Given the description of an element on the screen output the (x, y) to click on. 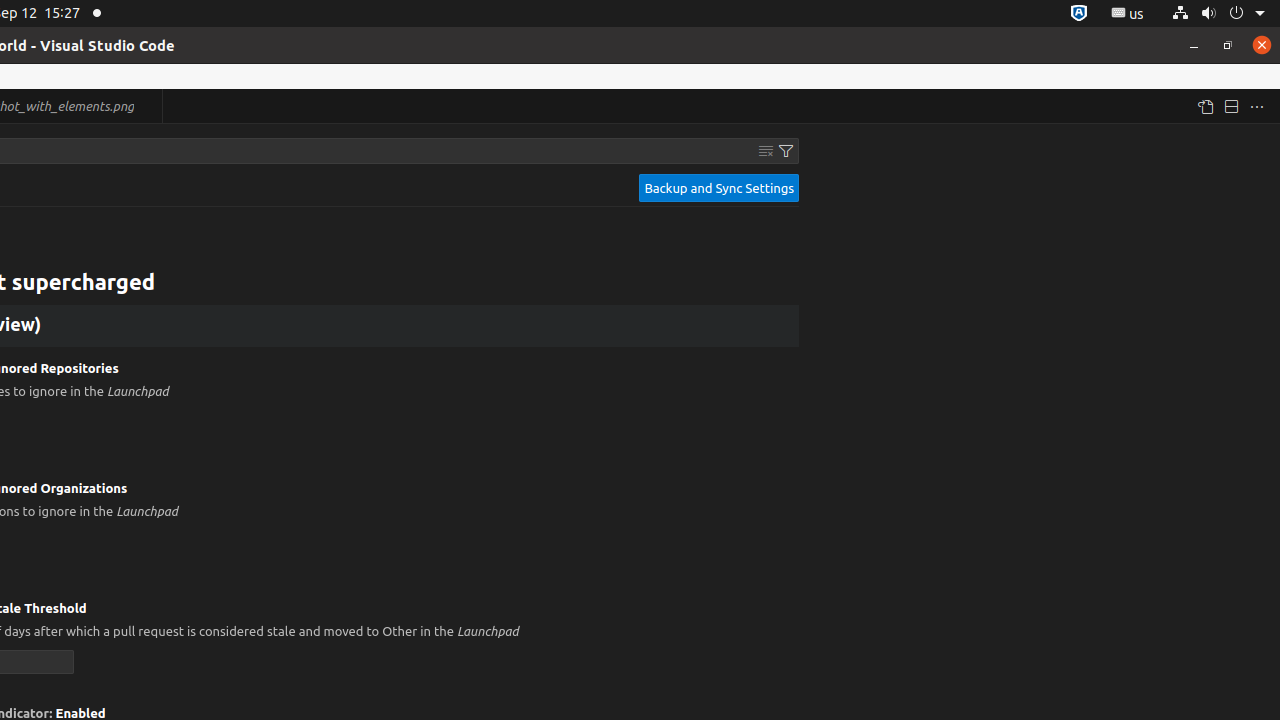
Filter Settings Element type: push-button (786, 151)
More Actions... Element type: push-button (1257, 106)
